Given the description of an element on the screen output the (x, y) to click on. 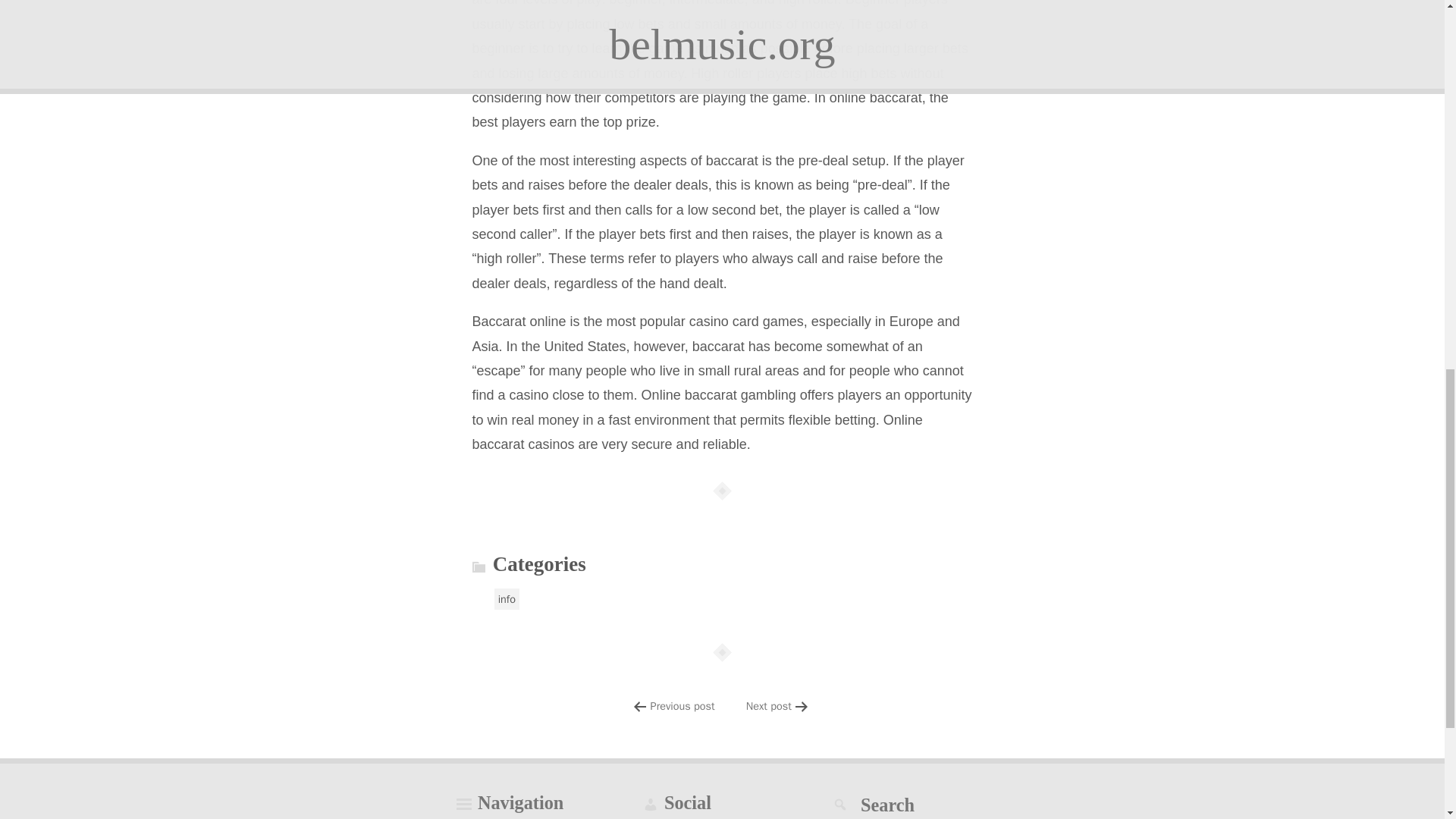
Previous post (682, 705)
Next post (768, 705)
info (507, 598)
